Given the description of an element on the screen output the (x, y) to click on. 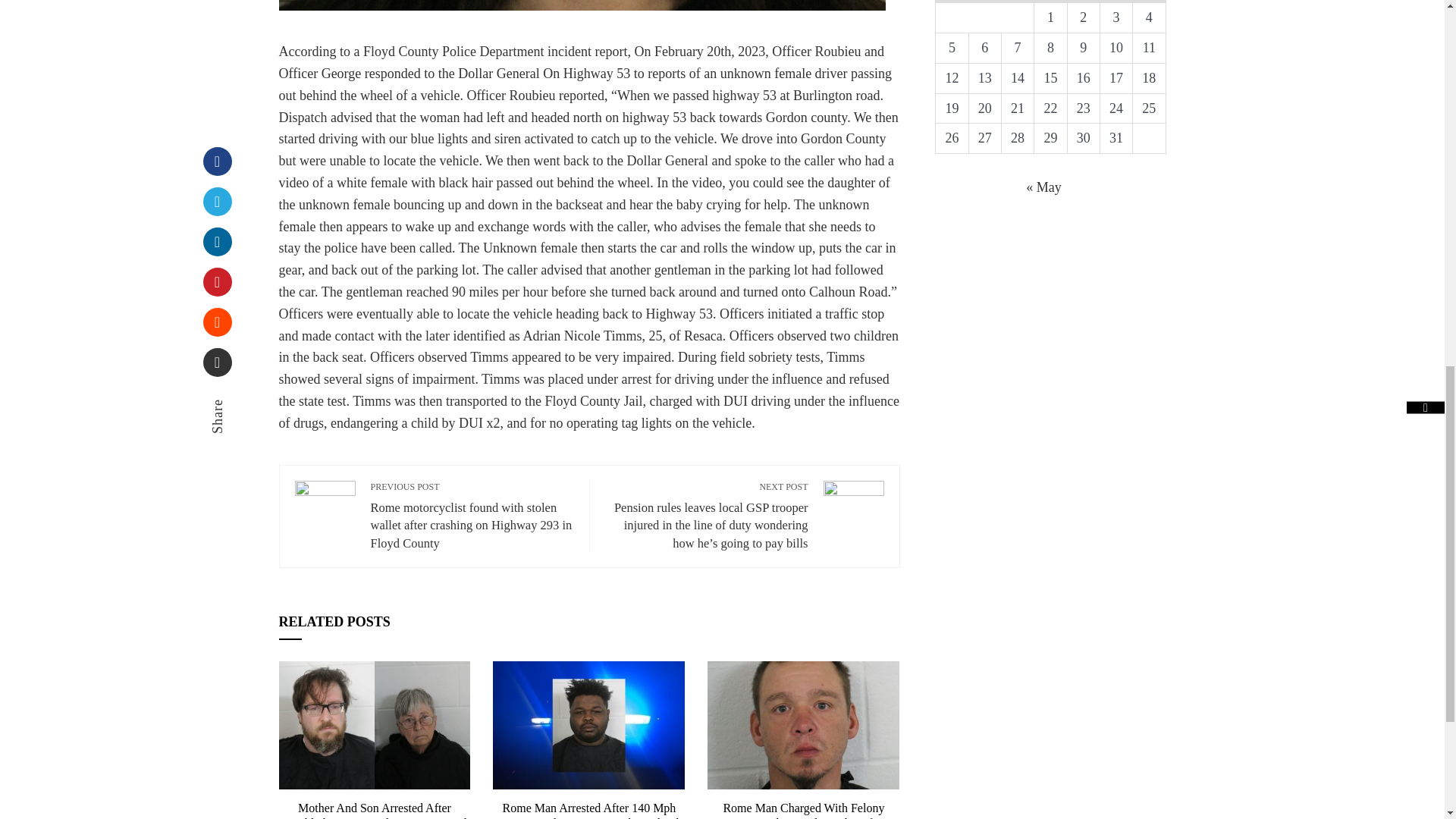
Tuesday (984, 1)
Thursday (1050, 1)
Monday (952, 1)
Friday (1083, 1)
Wednesday (1017, 1)
Saturday (1115, 1)
Sunday (1149, 1)
